Given the description of an element on the screen output the (x, y) to click on. 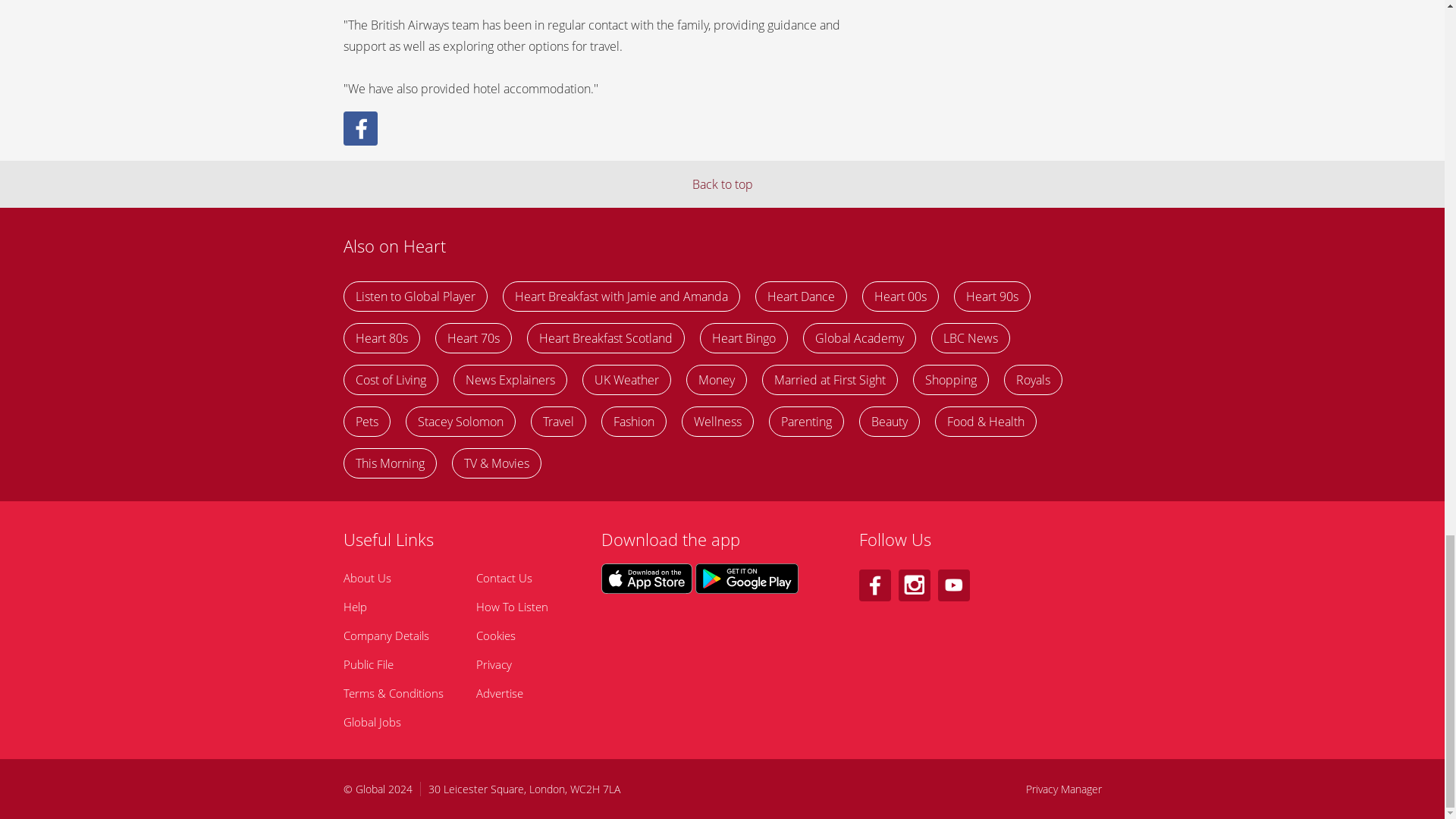
Follow Heart on Instagram (914, 585)
Follow Heart on Youtube (953, 585)
Back to top (721, 184)
Follow Heart on Facebook (874, 585)
